Given the description of an element on the screen output the (x, y) to click on. 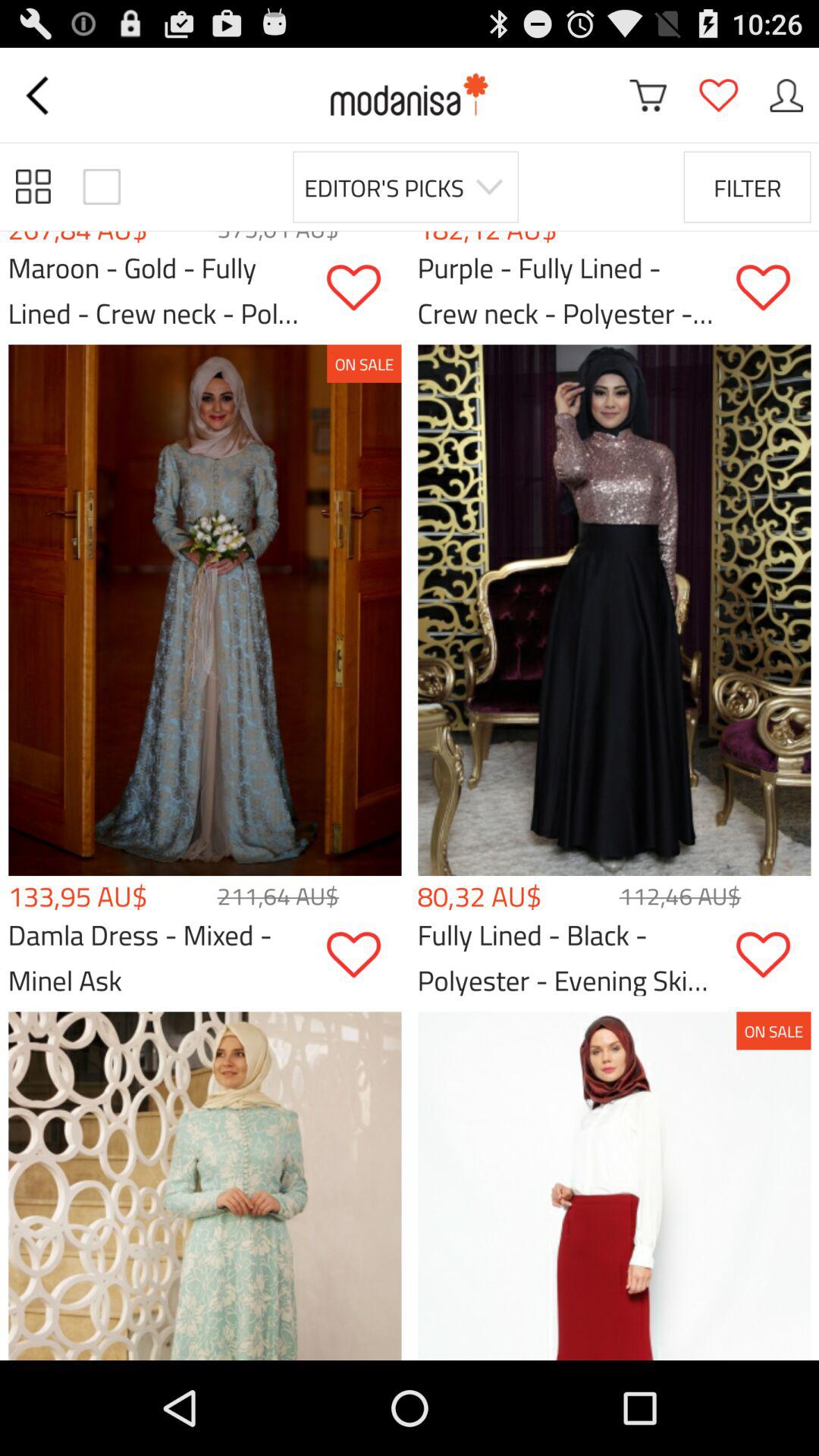
select the favourate (718, 95)
